Given the description of an element on the screen output the (x, y) to click on. 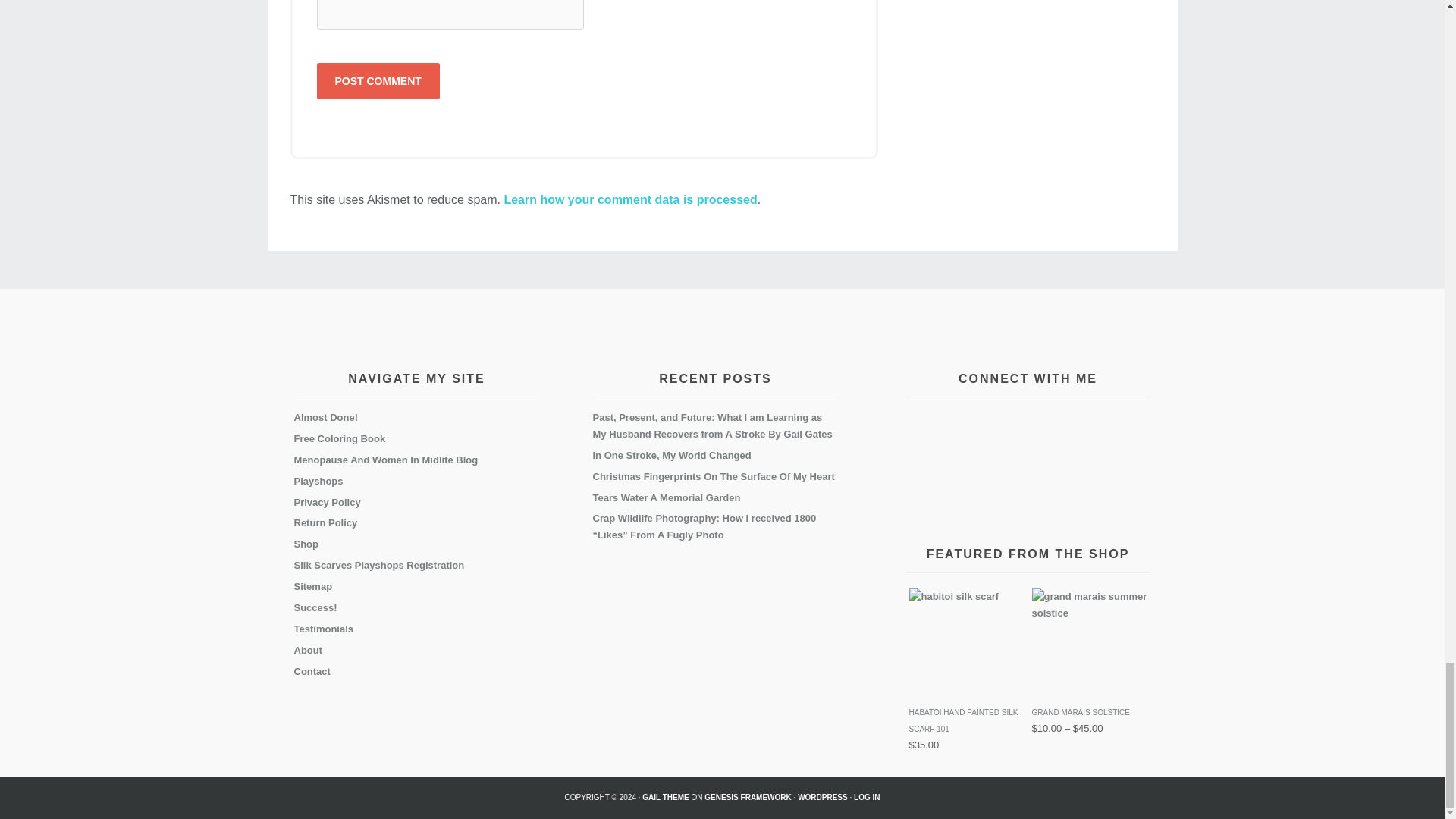
Post Comment (378, 81)
